Given the description of an element on the screen output the (x, y) to click on. 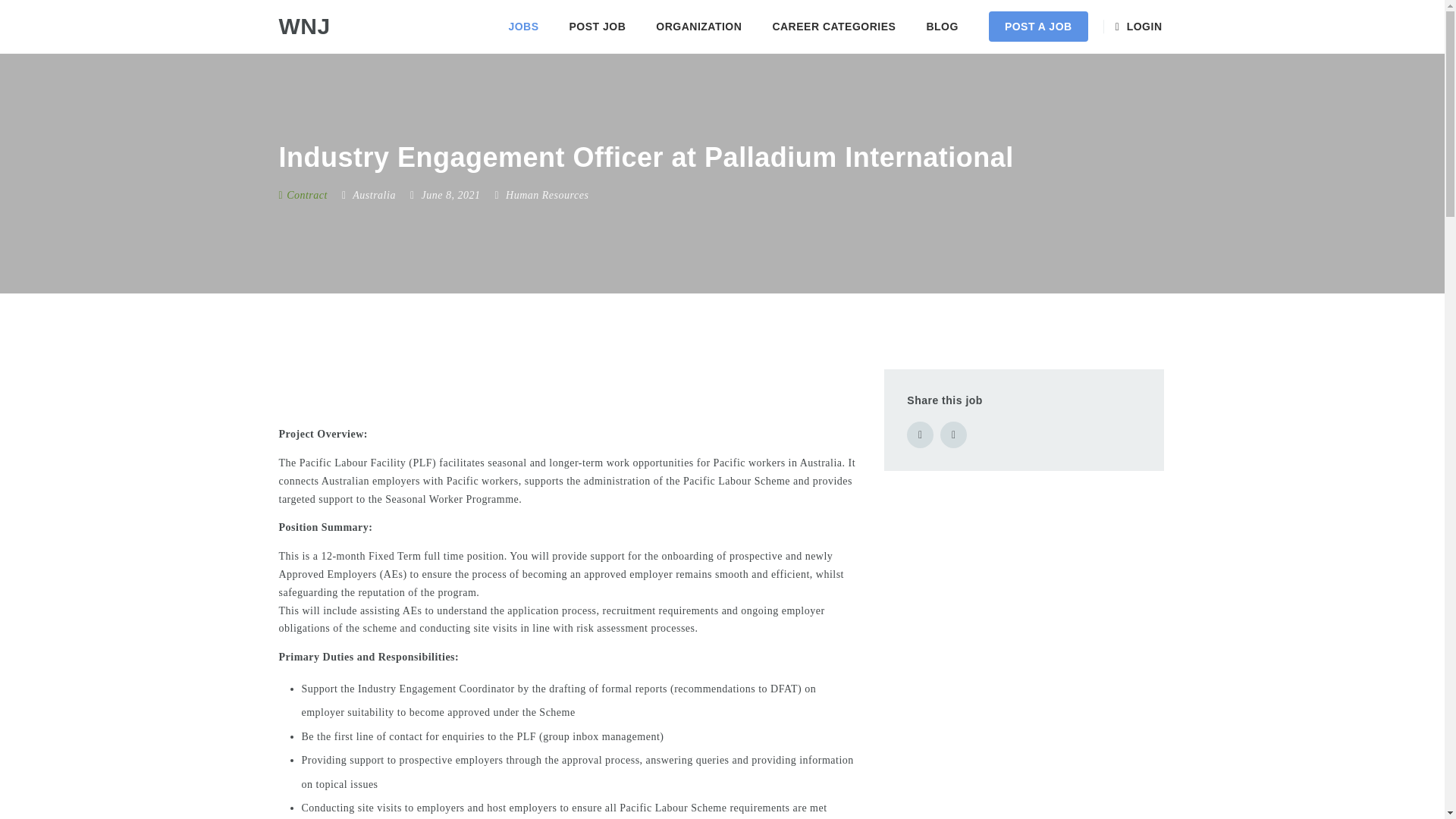
WNJ (304, 26)
 LOGIN (1140, 26)
Human Resources (546, 194)
ORGANIZATION (698, 26)
POST JOB (596, 26)
World NGO Jobs (304, 26)
Contract (303, 194)
JOBS (523, 26)
CAREER CATEGORIES (833, 26)
BLOG (941, 26)
